Given the description of an element on the screen output the (x, y) to click on. 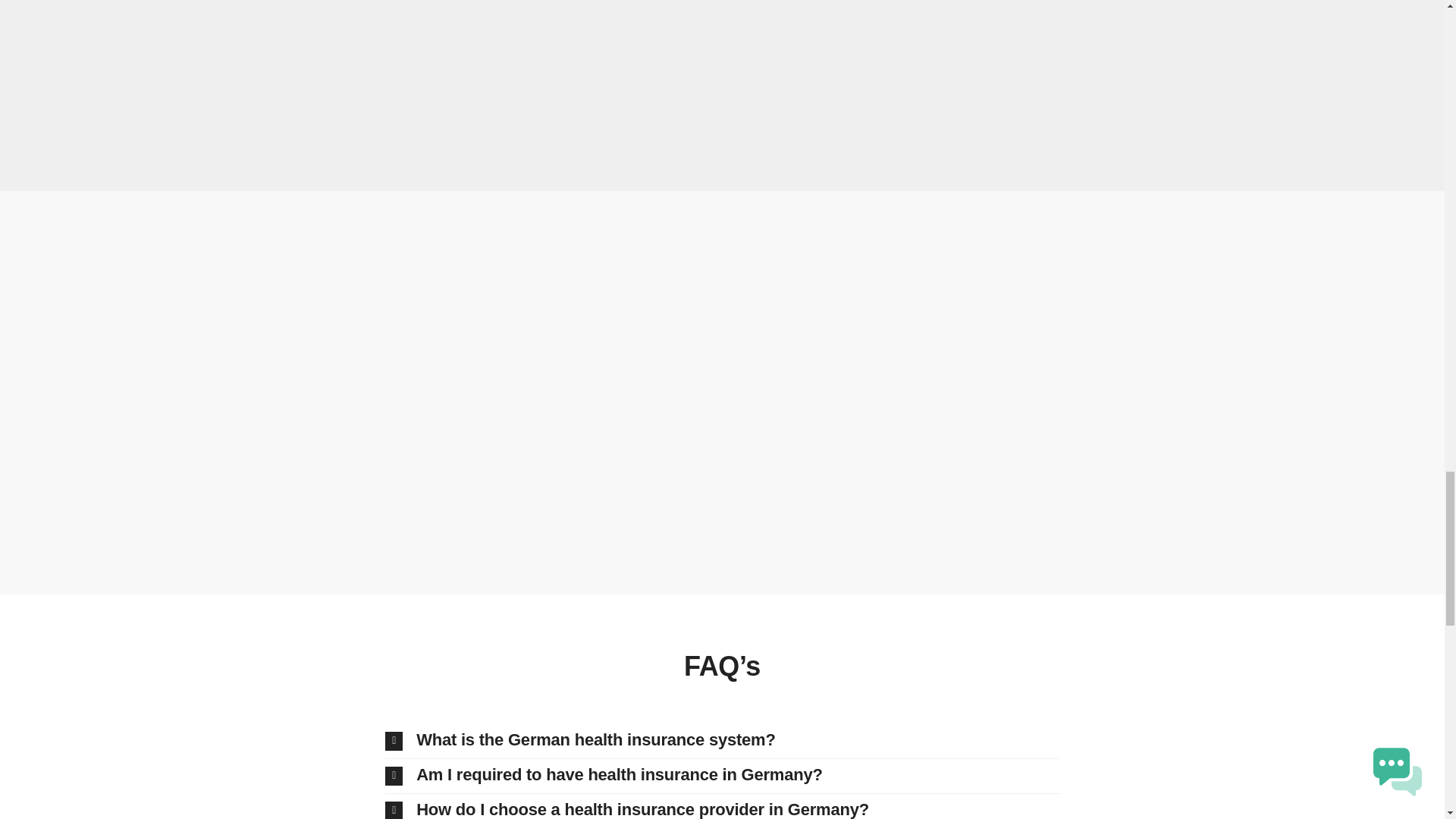
What is the German health insurance system? (722, 740)
